Given the description of an element on the screen output the (x, y) to click on. 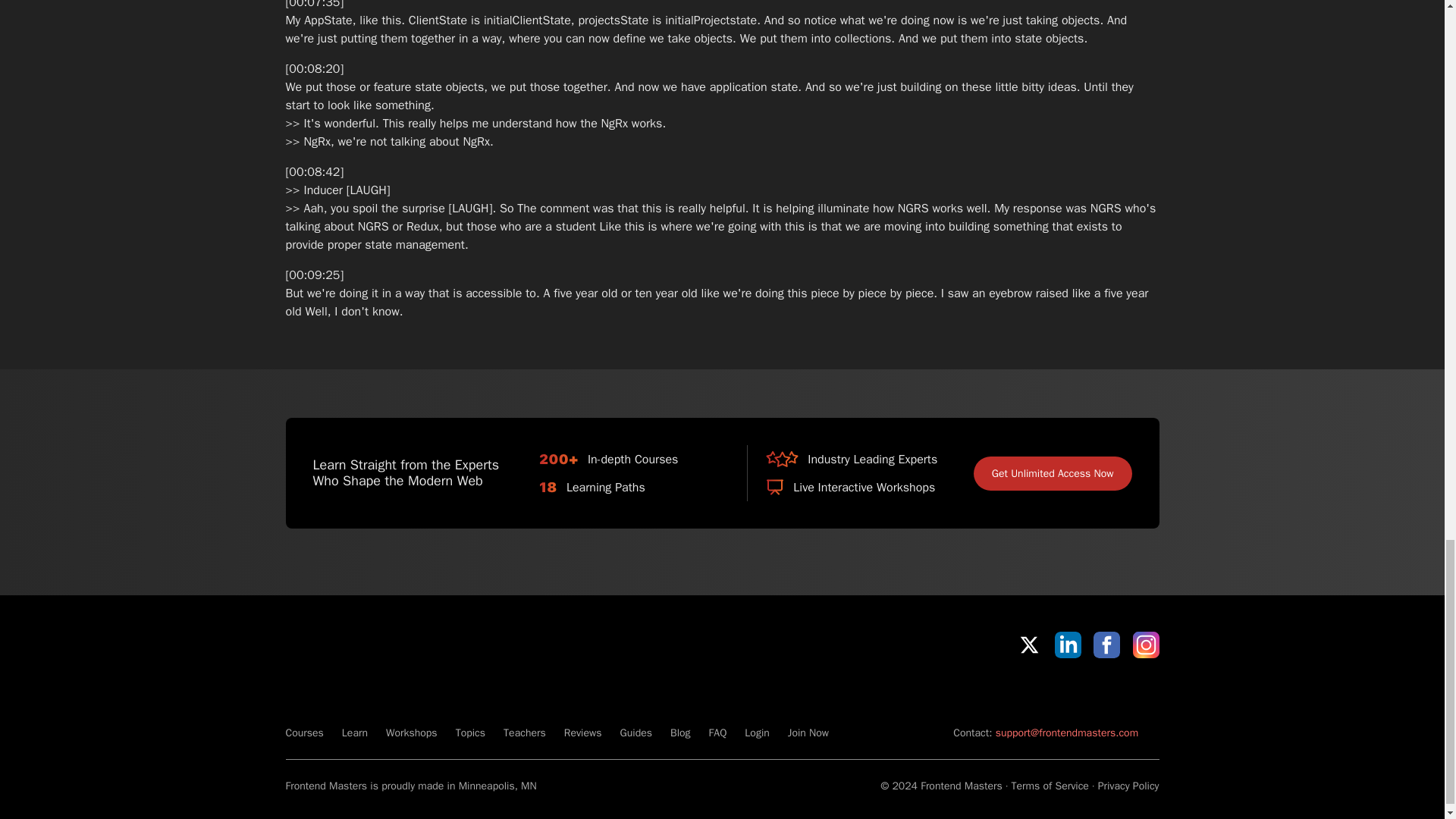
Login (756, 732)
Guides (636, 732)
Facebook (1106, 644)
Reviews (583, 732)
Instagram (1145, 644)
LinkedIn (1067, 644)
FAQ (717, 732)
Google App Store (1107, 691)
Apple App Store (998, 691)
Blog (679, 732)
